Given the description of an element on the screen output the (x, y) to click on. 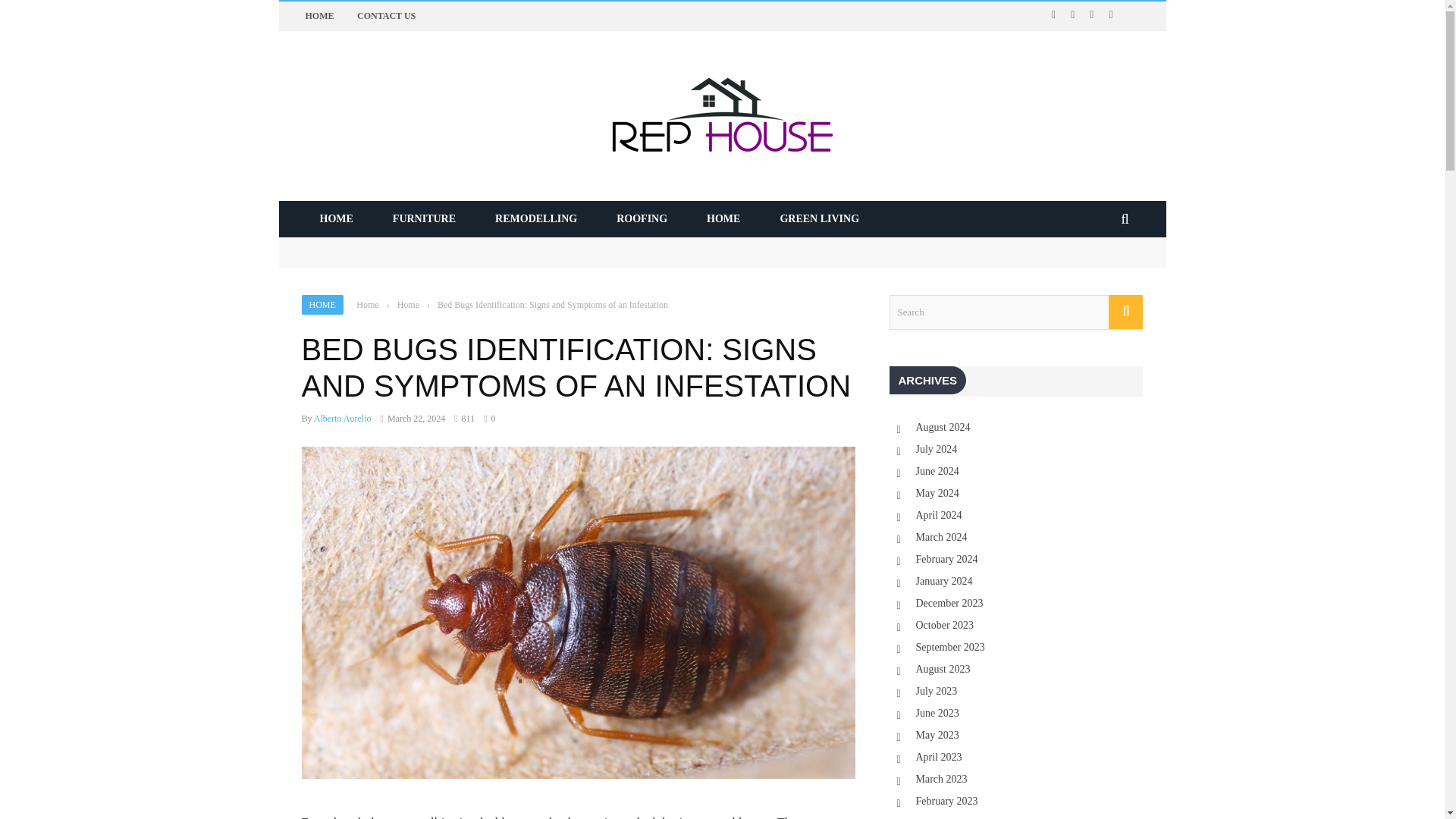
Home (367, 304)
REMODELLING (536, 218)
Search (1015, 312)
GREEN LIVING (819, 218)
HOME (336, 218)
HOME (322, 304)
HOME (723, 218)
ROOFING (641, 218)
Home (408, 304)
Alberto Aurelio (342, 418)
